Given the description of an element on the screen output the (x, y) to click on. 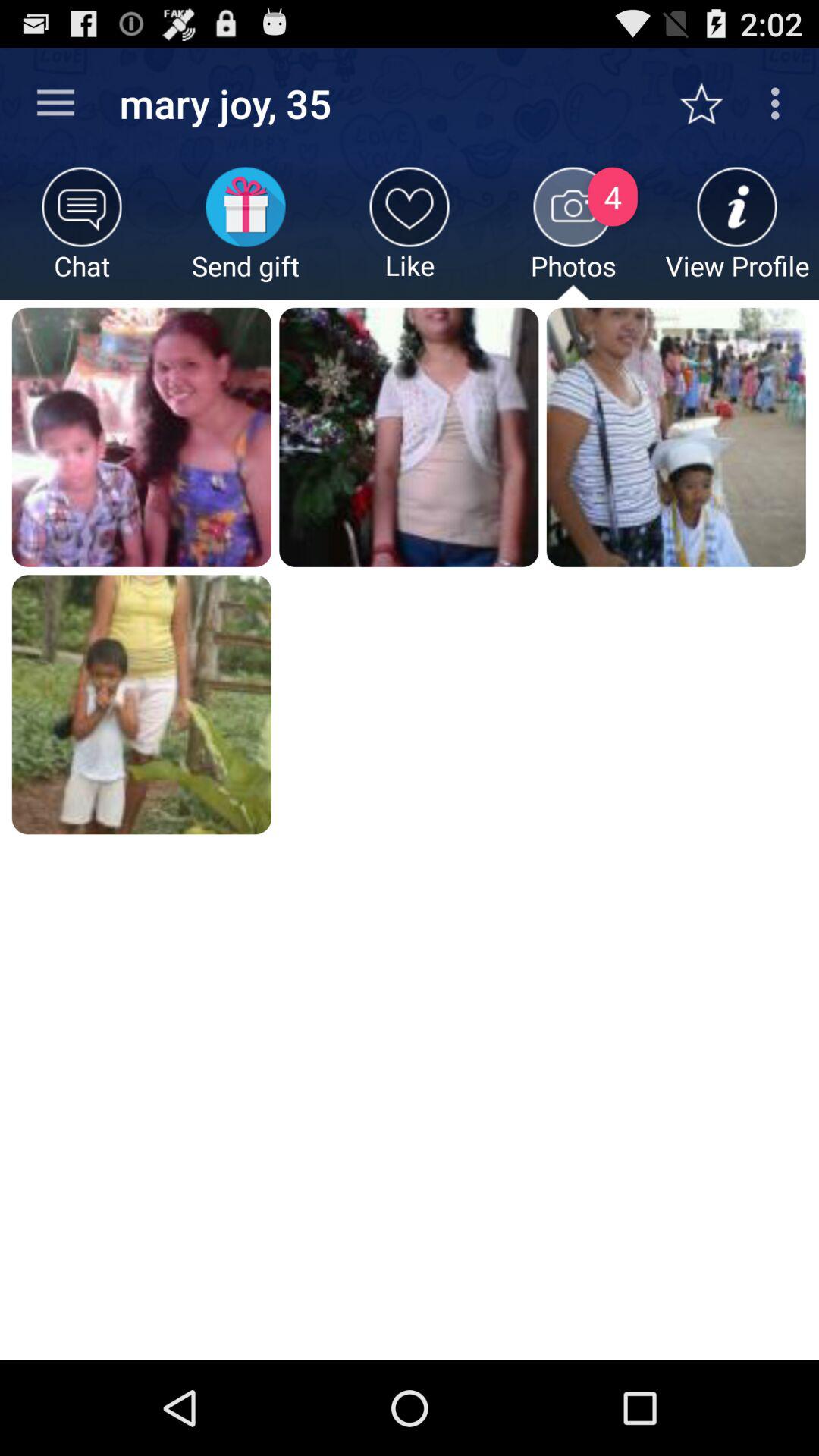
swipe to view profile icon (737, 233)
